Given the description of an element on the screen output the (x, y) to click on. 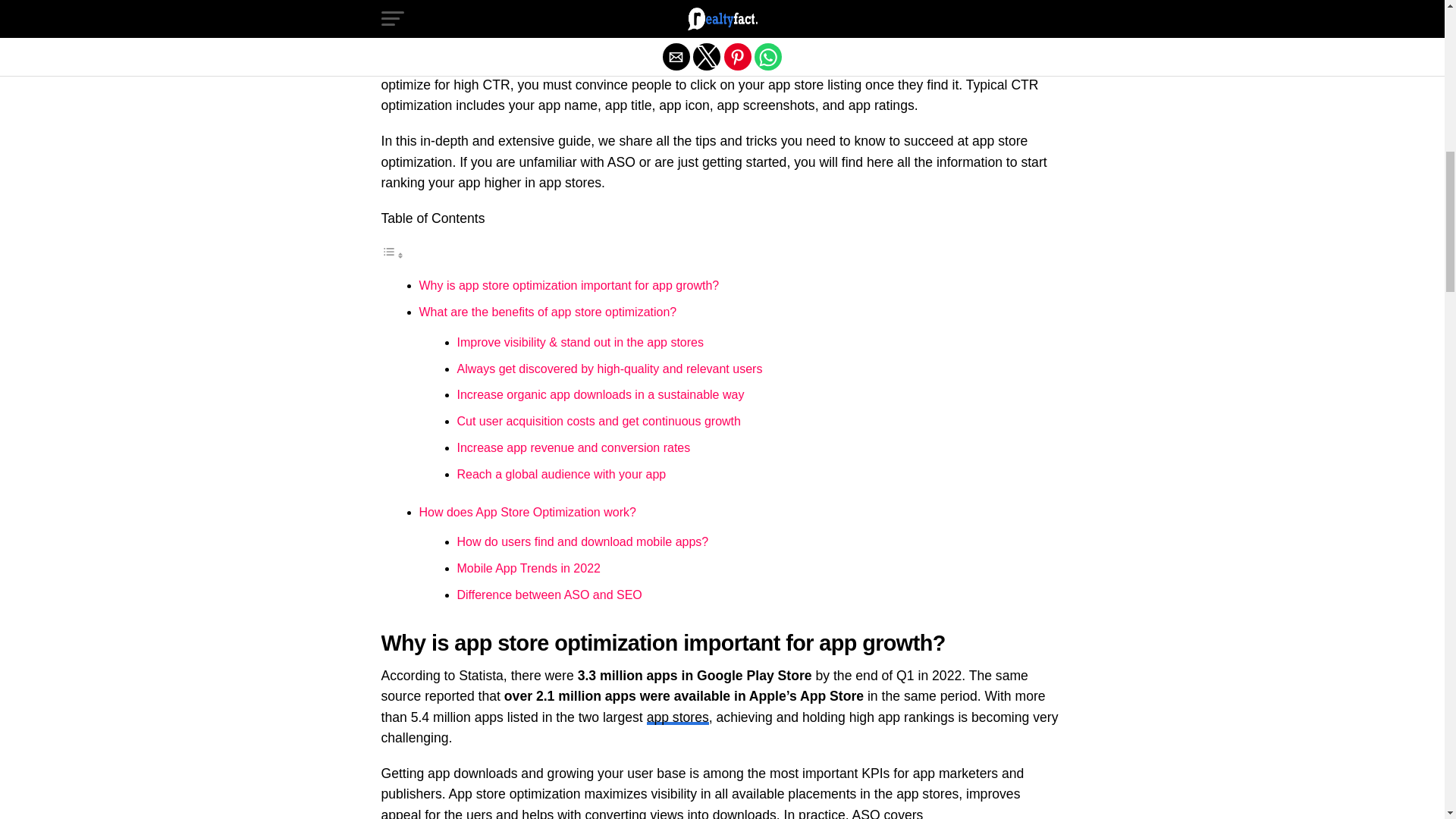
Increase organic app downloads in a sustainable way (600, 394)
Difference between ASO and SEO (549, 594)
app stores (677, 717)
Why is app store optimization important for app growth? (569, 285)
Why is app store optimization important for app growth? (569, 285)
Always get discovered by high-quality and relevant users (609, 368)
Mobile App Trends in 2022 (528, 567)
Cut user acquisition costs and get continuous growth (598, 420)
How does App Store Optimization work? (526, 512)
What are the benefits of app store optimization? (548, 311)
What are the benefits of app store optimization? (548, 311)
Cut user acquisition costs and get continuous growth (598, 420)
How do users find and download mobile apps? (582, 541)
Always get discovered by high-quality and relevant users (609, 368)
Reach a global audience with your app (561, 473)
